Given the description of an element on the screen output the (x, y) to click on. 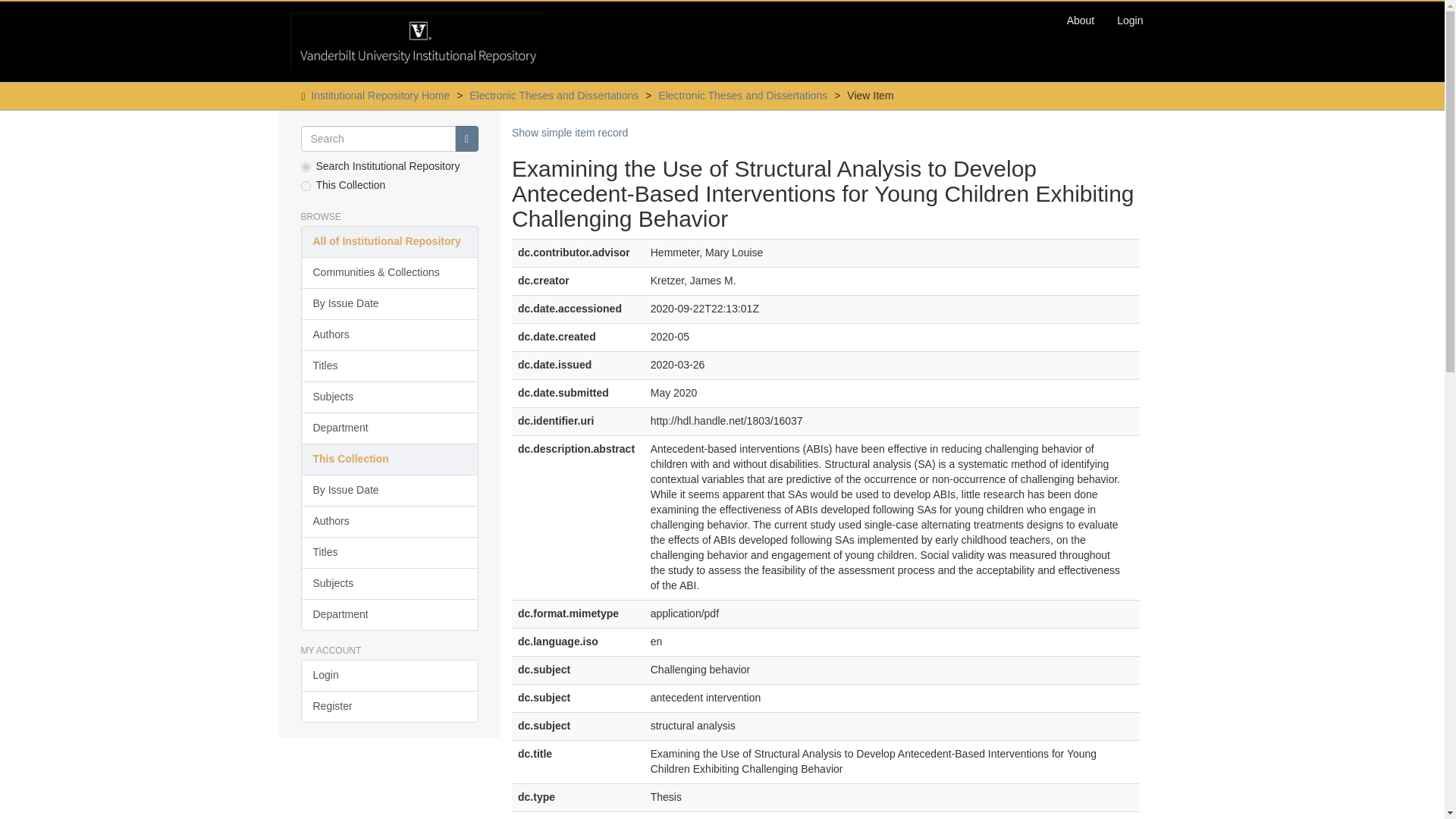
Institutional Repository Home (380, 95)
Electronic Theses and Dissertations (553, 95)
Login (389, 675)
Login (1129, 20)
Authors (389, 521)
Show simple item record (569, 132)
About (1080, 20)
This Collection (389, 459)
By Issue Date (389, 490)
Authors (389, 335)
